Given the description of an element on the screen output the (x, y) to click on. 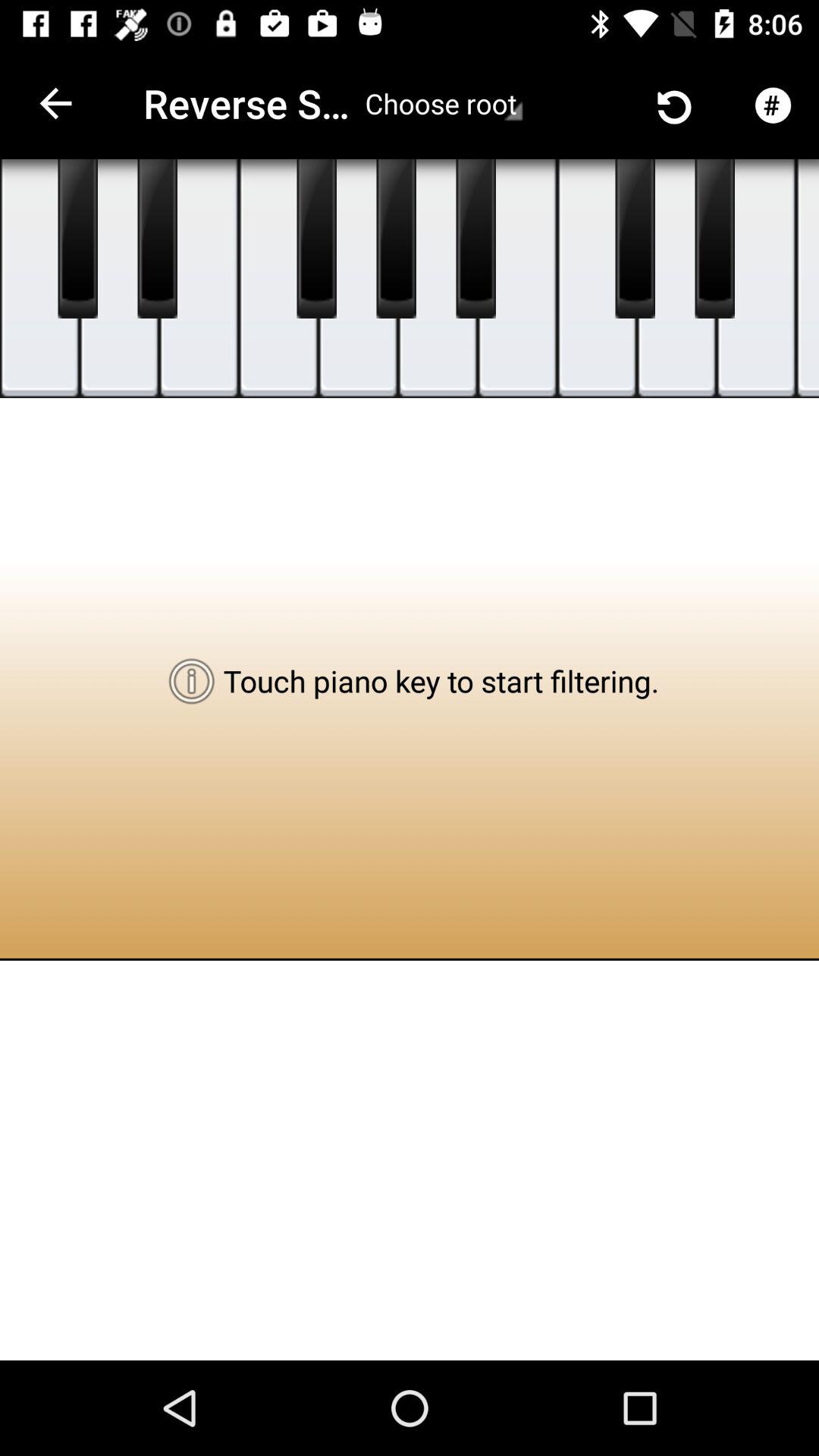
choose music note (437, 278)
